Given the description of an element on the screen output the (x, y) to click on. 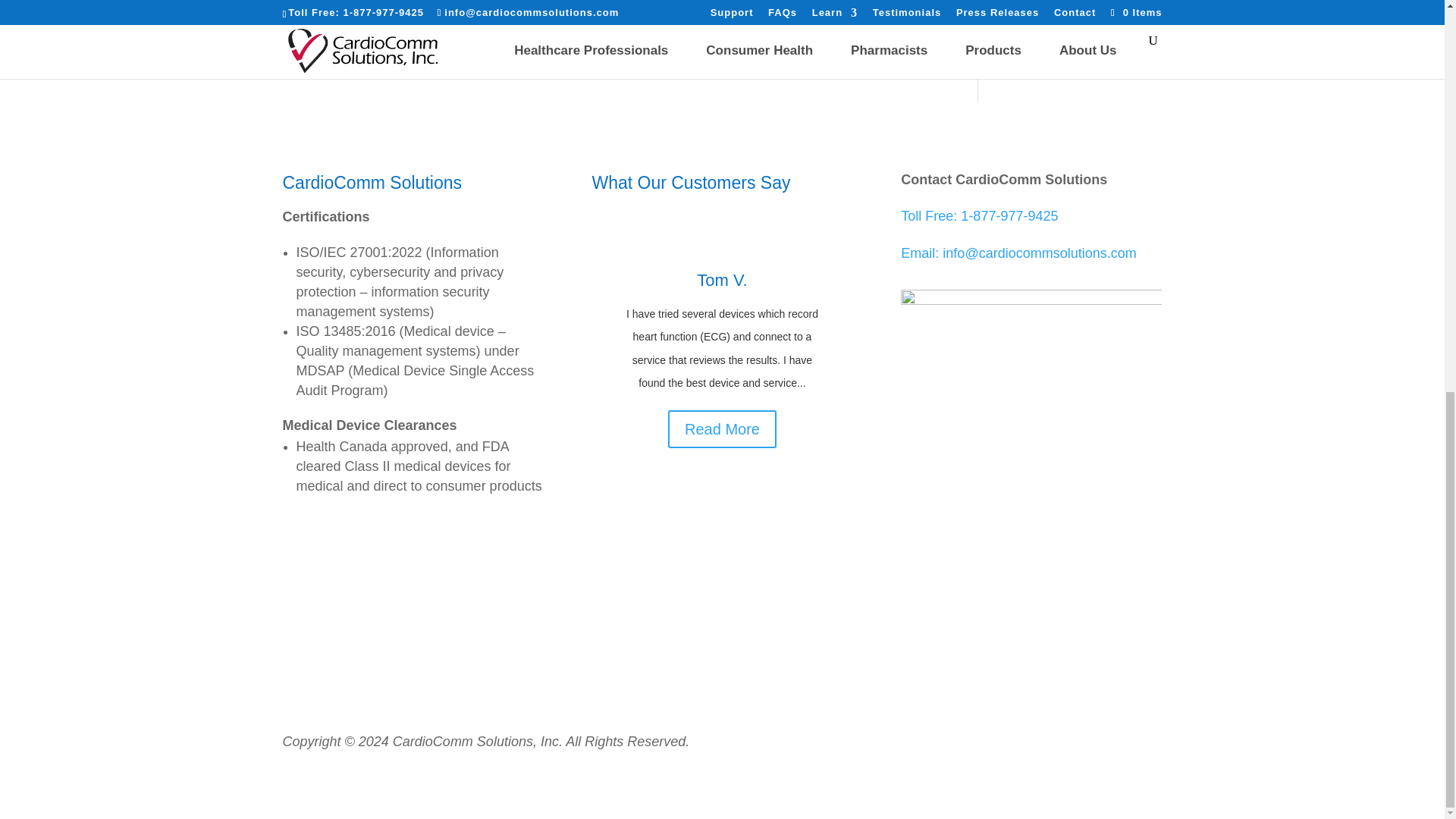
Read More (722, 428)
Buy Now (1050, 24)
Follow on LinkedIn (1015, 580)
Tom V. (721, 280)
Follow on Facebook (985, 580)
Follow on Instagram (1076, 580)
Follow on Youtube (1045, 580)
